Given the description of an element on the screen output the (x, y) to click on. 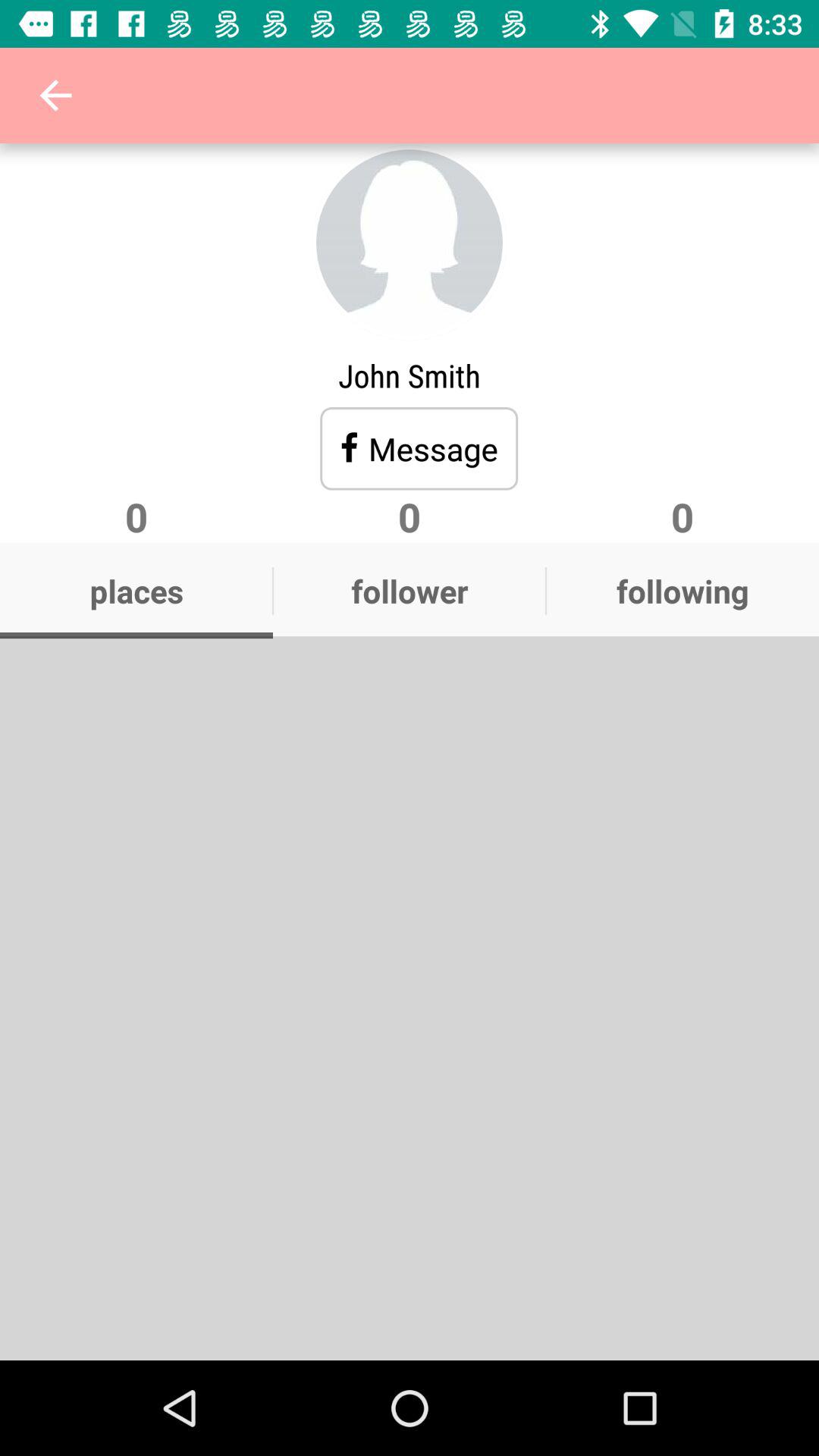
click on follower (409, 591)
go to the text following (682, 591)
icon shown above john smith (409, 242)
